Given the description of an element on the screen output the (x, y) to click on. 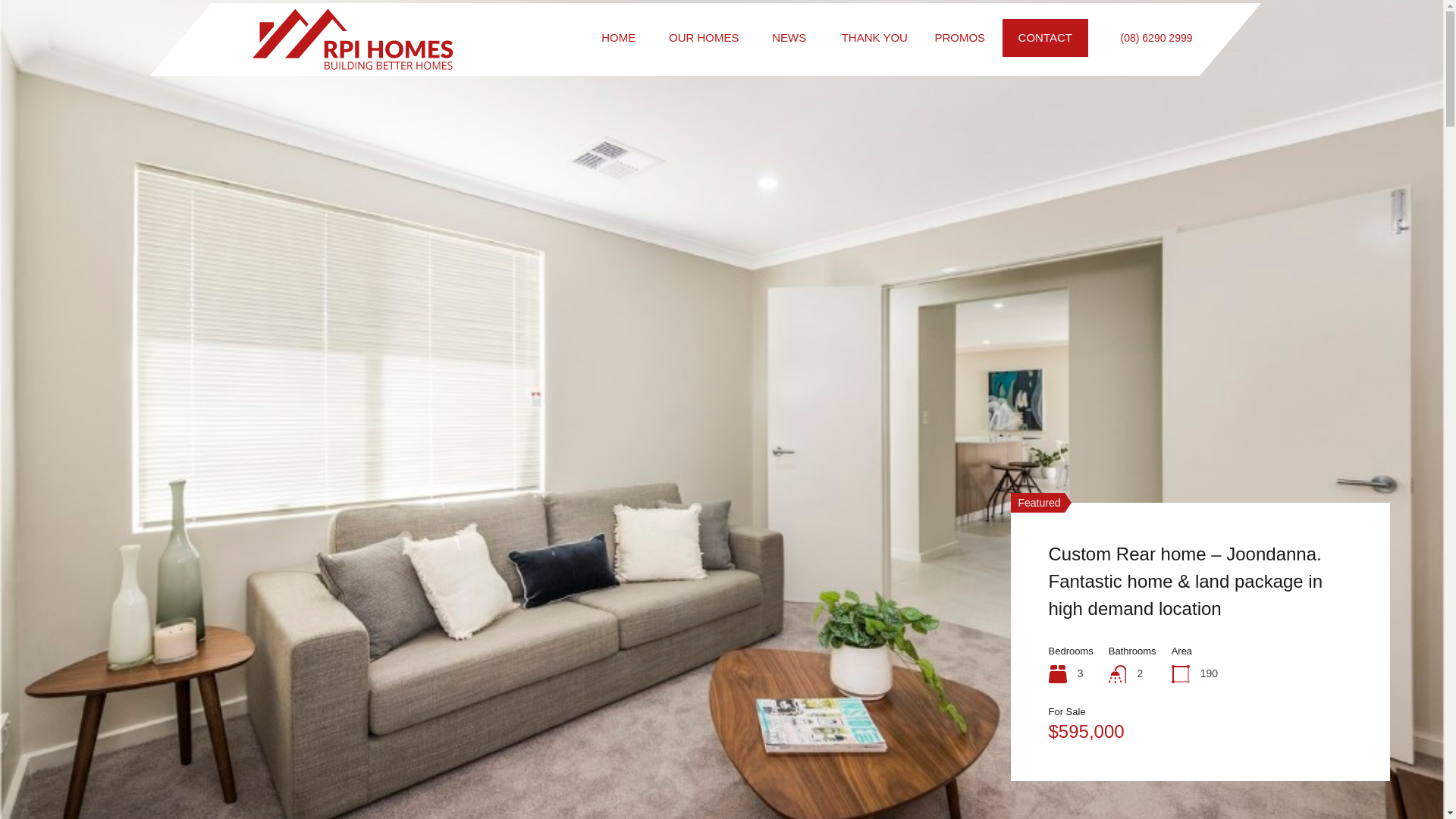
OUR HOMES Element type: text (703, 37)
HOME Element type: text (619, 37)
THANK YOU Element type: text (874, 37)
PROMOS Element type: text (960, 37)
(08) 6290 2999 Element type: text (1156, 37)
First Home Buyer WA Element type: hover (351, 65)
CONTACT Element type: text (1045, 37)
NEWS Element type: text (789, 37)
The Innovator Element type: text (1104, 615)
